Given the description of an element on the screen output the (x, y) to click on. 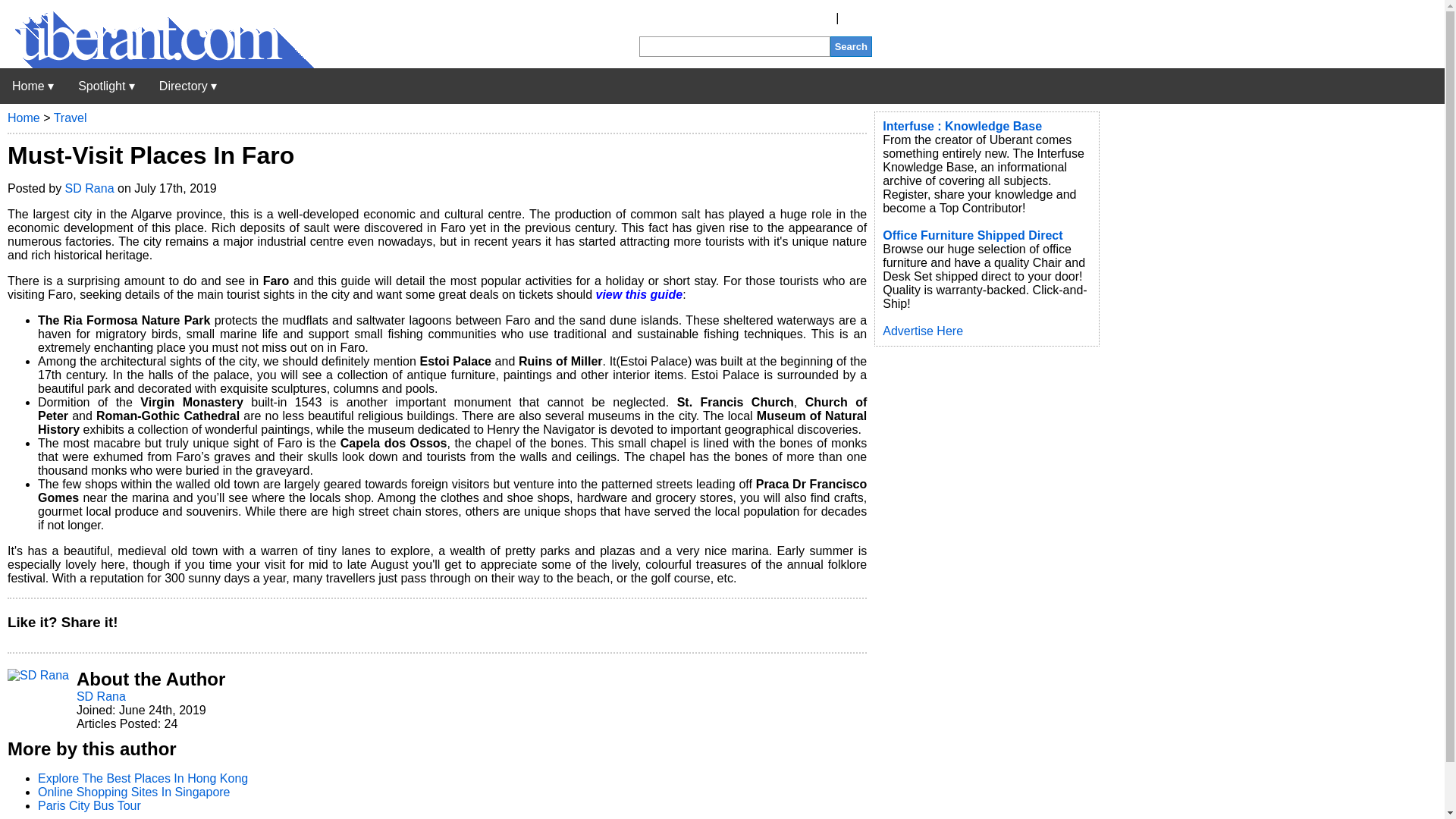
Uberant (157, 63)
Search (850, 46)
Login (857, 17)
Uberant (32, 85)
Search (850, 46)
Register (809, 17)
